Given the description of an element on the screen output the (x, y) to click on. 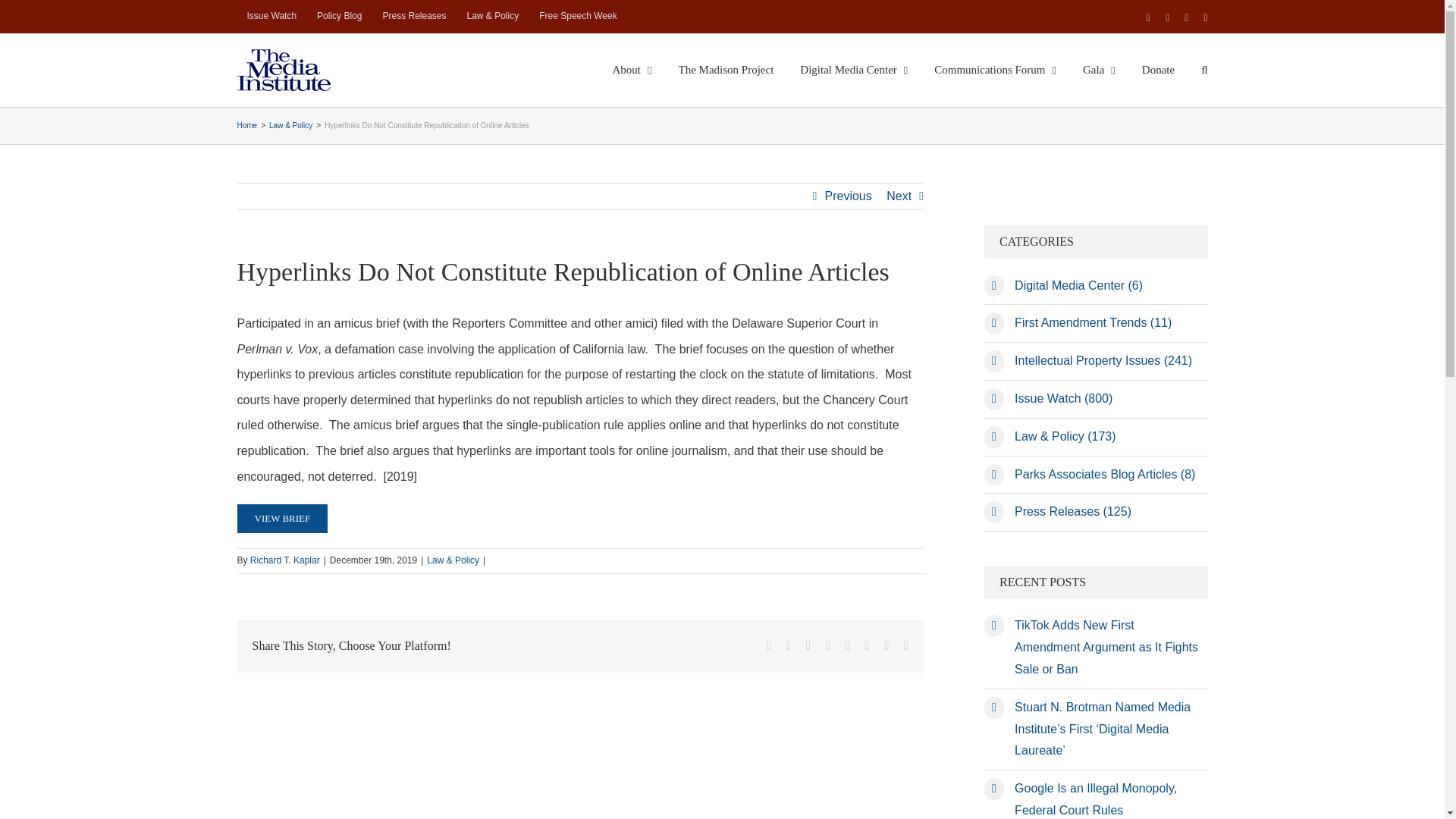
Press Releases (413, 16)
Policy Blog (339, 16)
Issue Watch (270, 16)
Communications Forum (995, 70)
Issue Watch (270, 16)
Communications Forum (995, 70)
Press Releases (413, 16)
The Madison Project (726, 70)
Free Speech Week (578, 16)
Digital Media Center (853, 70)
